Given the description of an element on the screen output the (x, y) to click on. 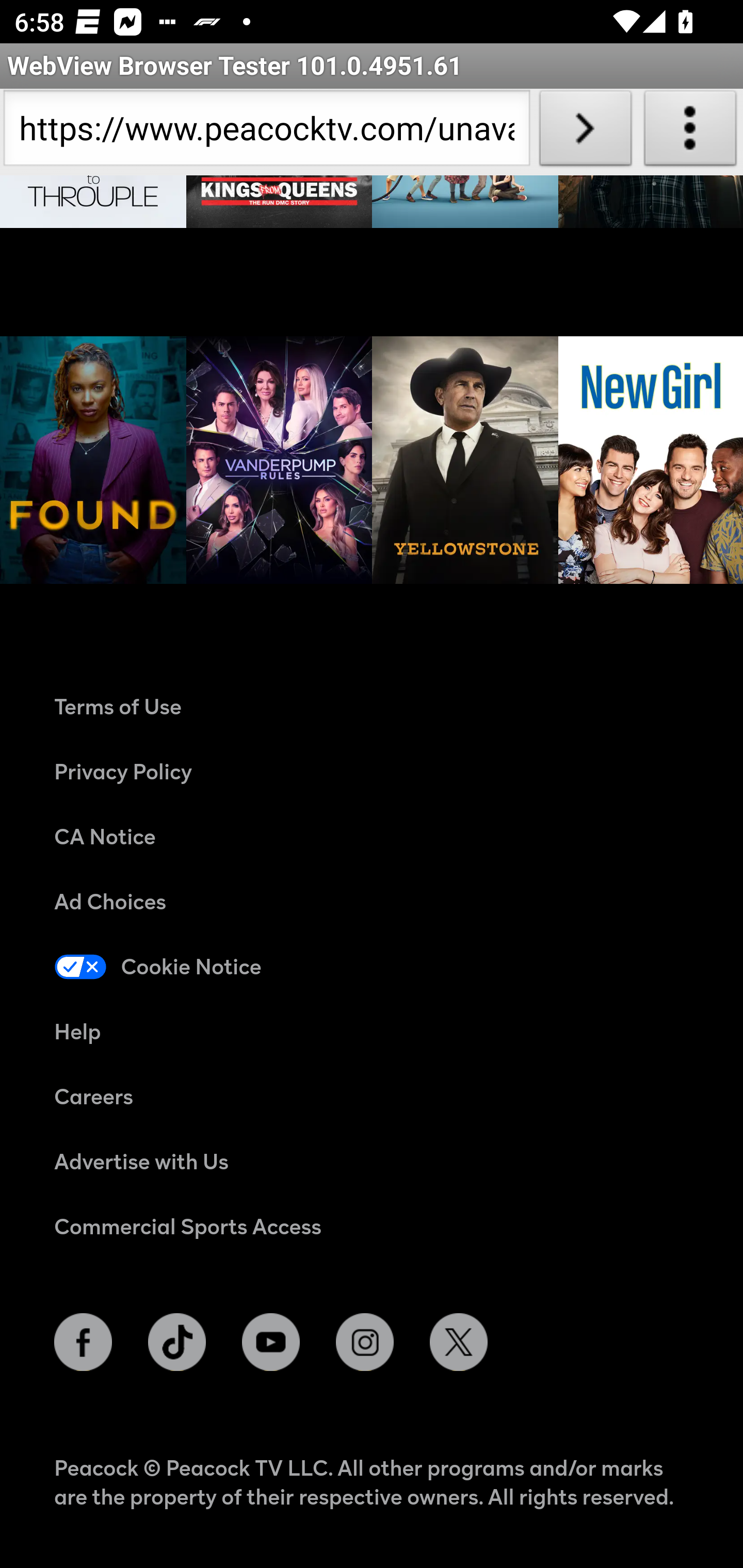
https://www.peacocktv.com/unavailable (266, 132)
Load URL (585, 132)
About WebView (690, 132)
Found (93, 460)
Vanderpump Rules (278, 460)
Yellowstone (465, 460)
New Girl (649, 460)
Terms of Use ((Opens in new window)) Terms of Use (372, 707)
CA Notice ((Opens in new window)) CA Notice (372, 836)
Ad Choices ((Opens in new window)) Ad Choices (372, 902)
Your Privacy Choices (372, 966)
Your Privacy Choices (399, 966)
Help ((Opens in new window)) Help (372, 1032)
Careers ((Opens in new window)) Careers (372, 1097)
Facebook ((Opens in new window)) (83, 1342)
TikTok ((Opens in new window)) (177, 1342)
YouTube ((Opens in new window)) (270, 1342)
Instagram ((Opens in new window)) (365, 1342)
X ((Opens in new window)) (458, 1342)
